Given the description of an element on the screen output the (x, y) to click on. 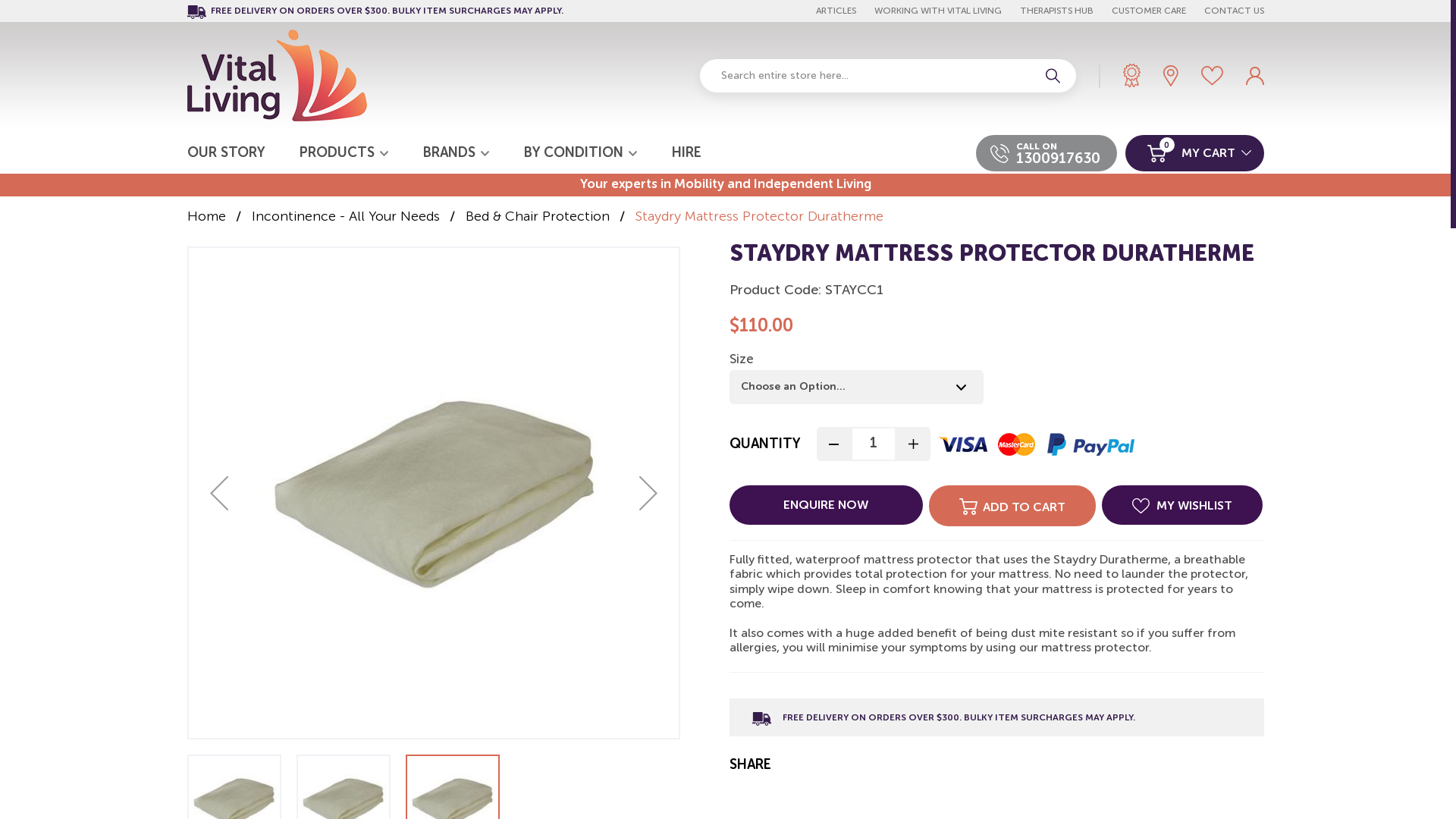
+ Element type: text (913, 443)
MY CART
0 Element type: text (1194, 152)
Quantity Element type: hover (873, 443)
MY WISHLIST Element type: text (1181, 504)
Vital Living Element type: hover (276, 75)
ARTICLES Element type: text (835, 10)
WORKING WITH VITAL LIVING Element type: text (937, 10)
My Account Element type: hover (1254, 75)
CUSTOMER CARE Element type: text (1148, 10)
CONTACT US Element type: text (1234, 10)
Bed & Chair Protection Element type: text (537, 216)
Close Element type: text (1243, 204)
- Element type: text (832, 443)
SEARCH Element type: text (1053, 75)
BRANDS Element type: text (456, 153)
Home Element type: text (205, 216)
Incontinence - All Your Needs Element type: text (345, 216)
My Wishlist Element type: hover (1212, 74)
BY CONDITION Element type: text (579, 153)
Vital Rewards Element type: hover (1131, 75)
HIRE Element type: text (686, 153)
Store Locator Element type: hover (1170, 75)
THERAPISTS HUB Element type: text (1055, 10)
1300917630 Element type: text (1058, 158)
PRODUCTS Element type: text (342, 153)
ENQUIRE NOW Element type: text (825, 504)
ADD TO CART Element type: text (1011, 505)
OUR STORY Element type: text (224, 153)
